Given the description of an element on the screen output the (x, y) to click on. 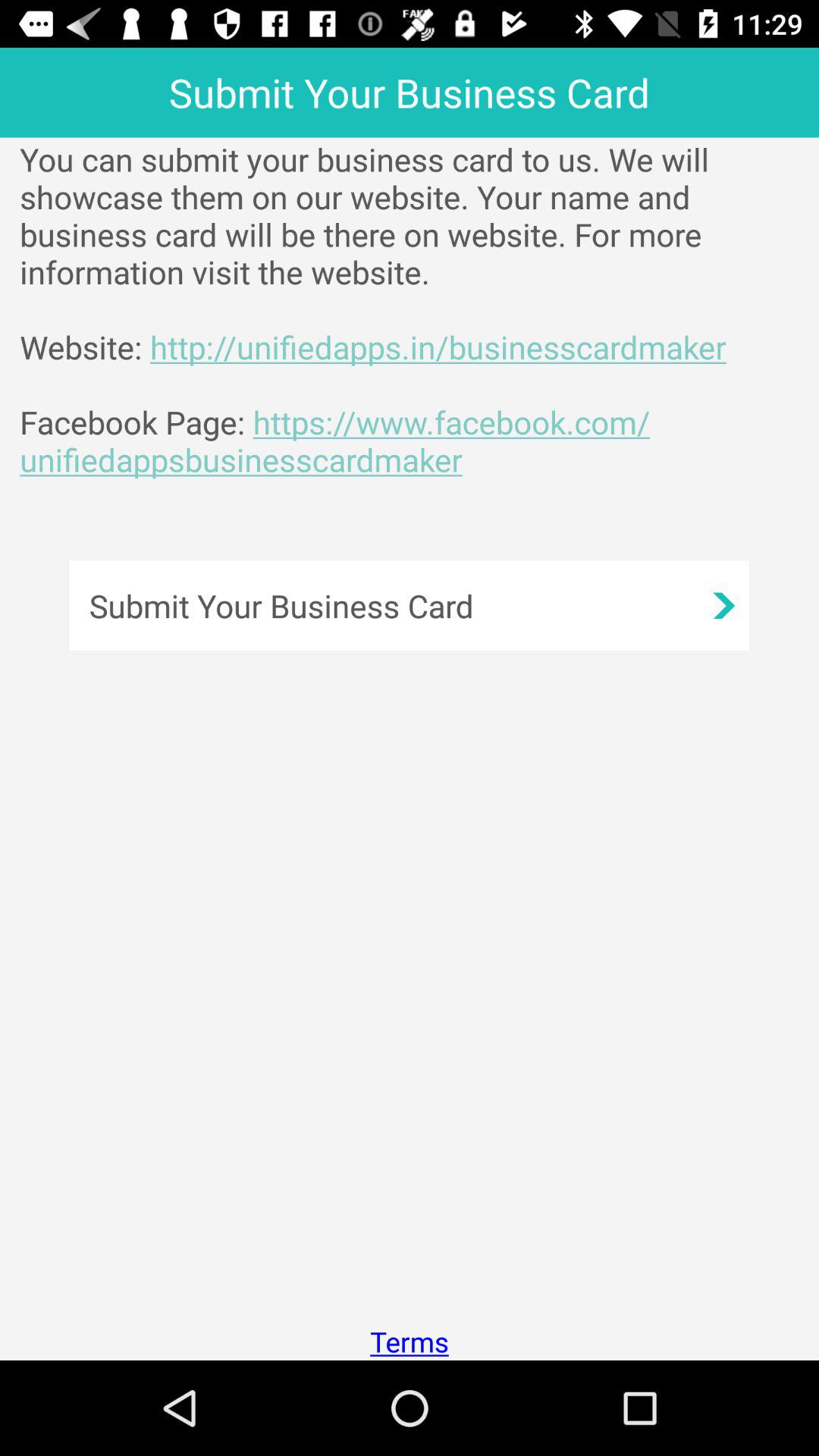
turn on you can submit app (419, 309)
